Given the description of an element on the screen output the (x, y) to click on. 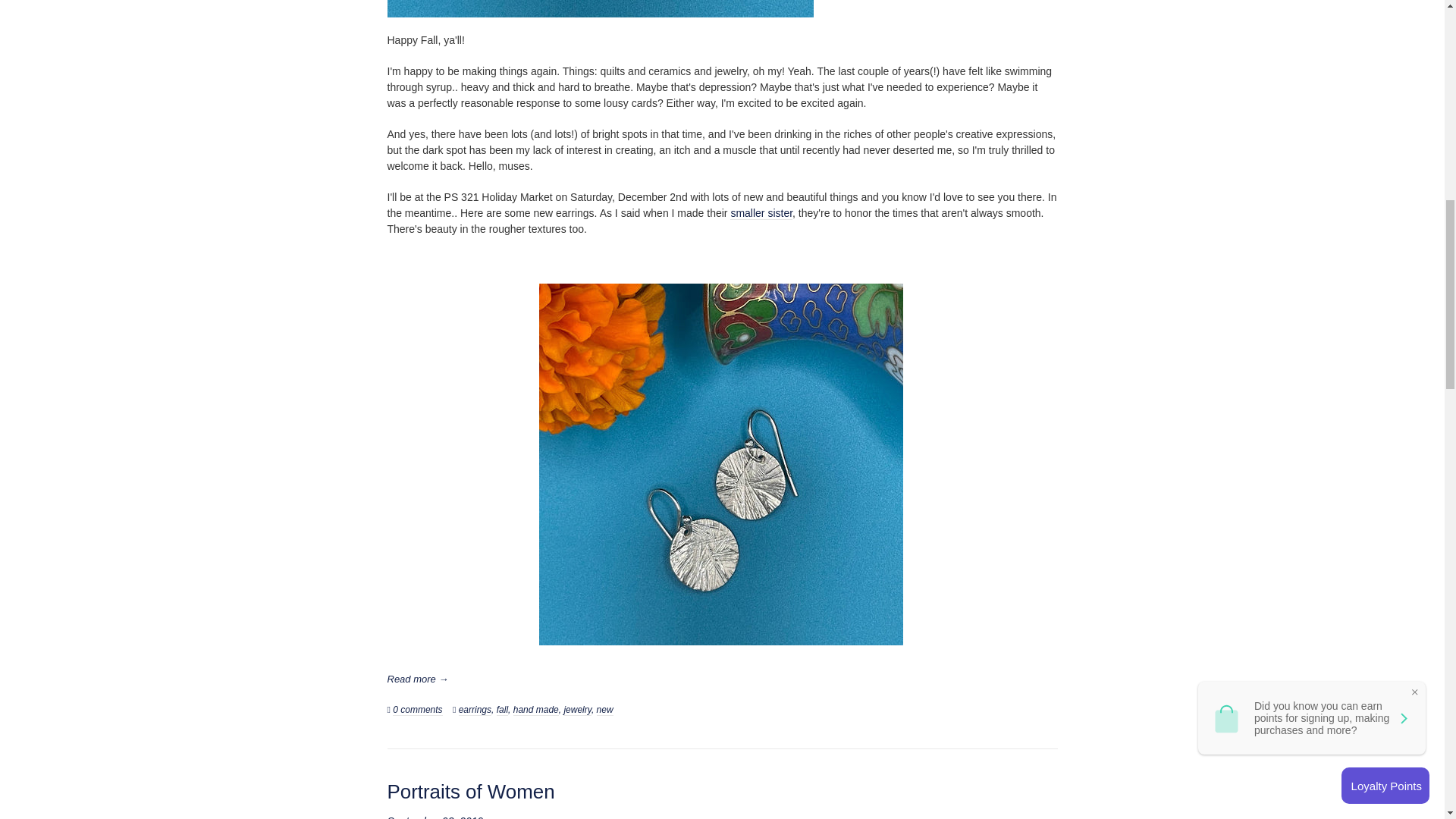
jewelry (577, 709)
new (604, 709)
fall (502, 709)
hand made (536, 709)
Portraits of Women (470, 791)
0 comments (417, 709)
earrings (475, 709)
smaller sister (761, 213)
